Given the description of an element on the screen output the (x, y) to click on. 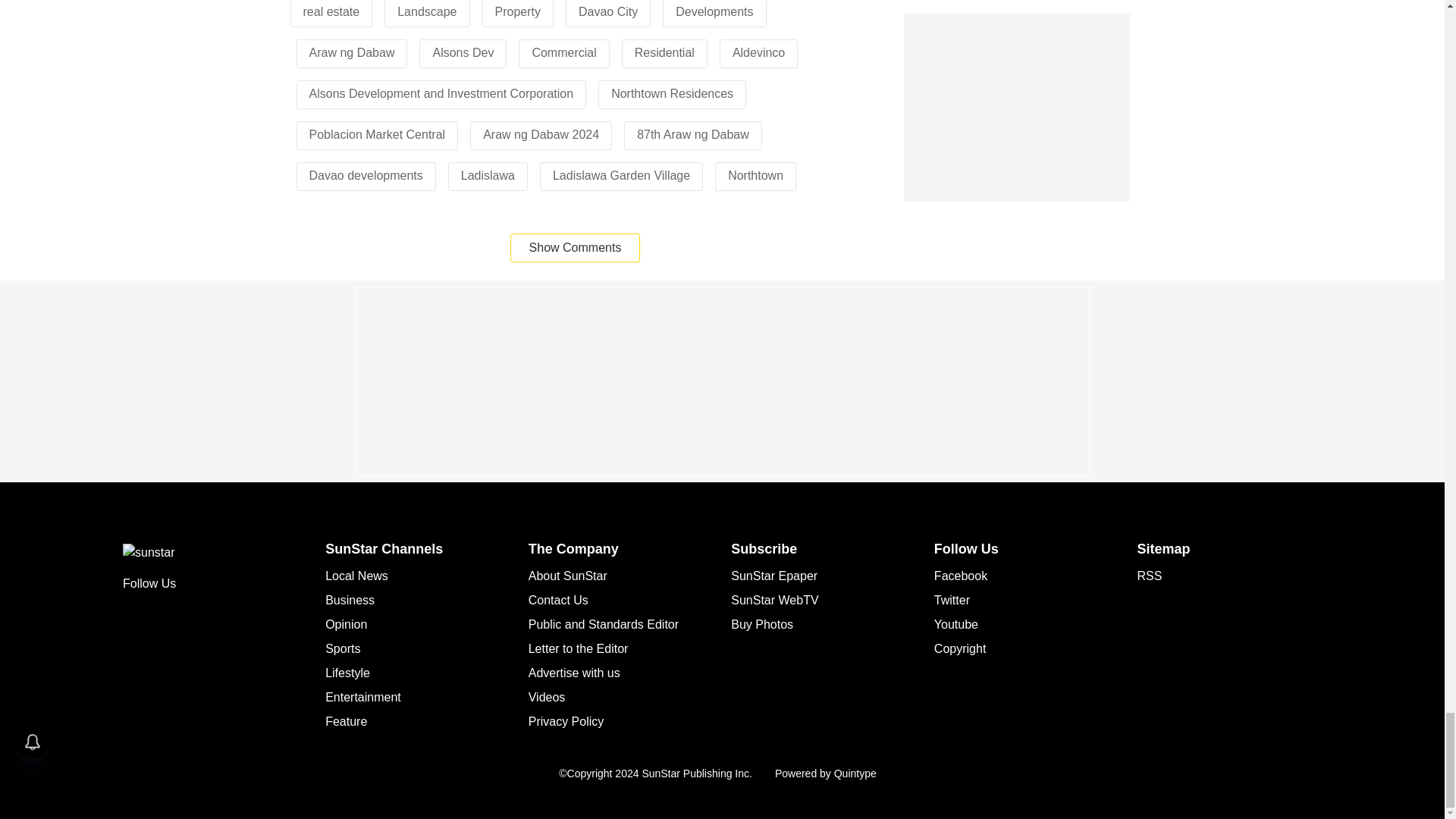
Landscape (427, 11)
Poblacion Market Central (376, 133)
Alsons Development and Investment Corporation (440, 92)
Residential (664, 51)
Araw ng Dabaw 2024 (540, 133)
Property (517, 11)
Northtown Residences (672, 92)
Alsons Dev (462, 51)
Commercial (563, 51)
real estate (330, 11)
